Given the description of an element on the screen output the (x, y) to click on. 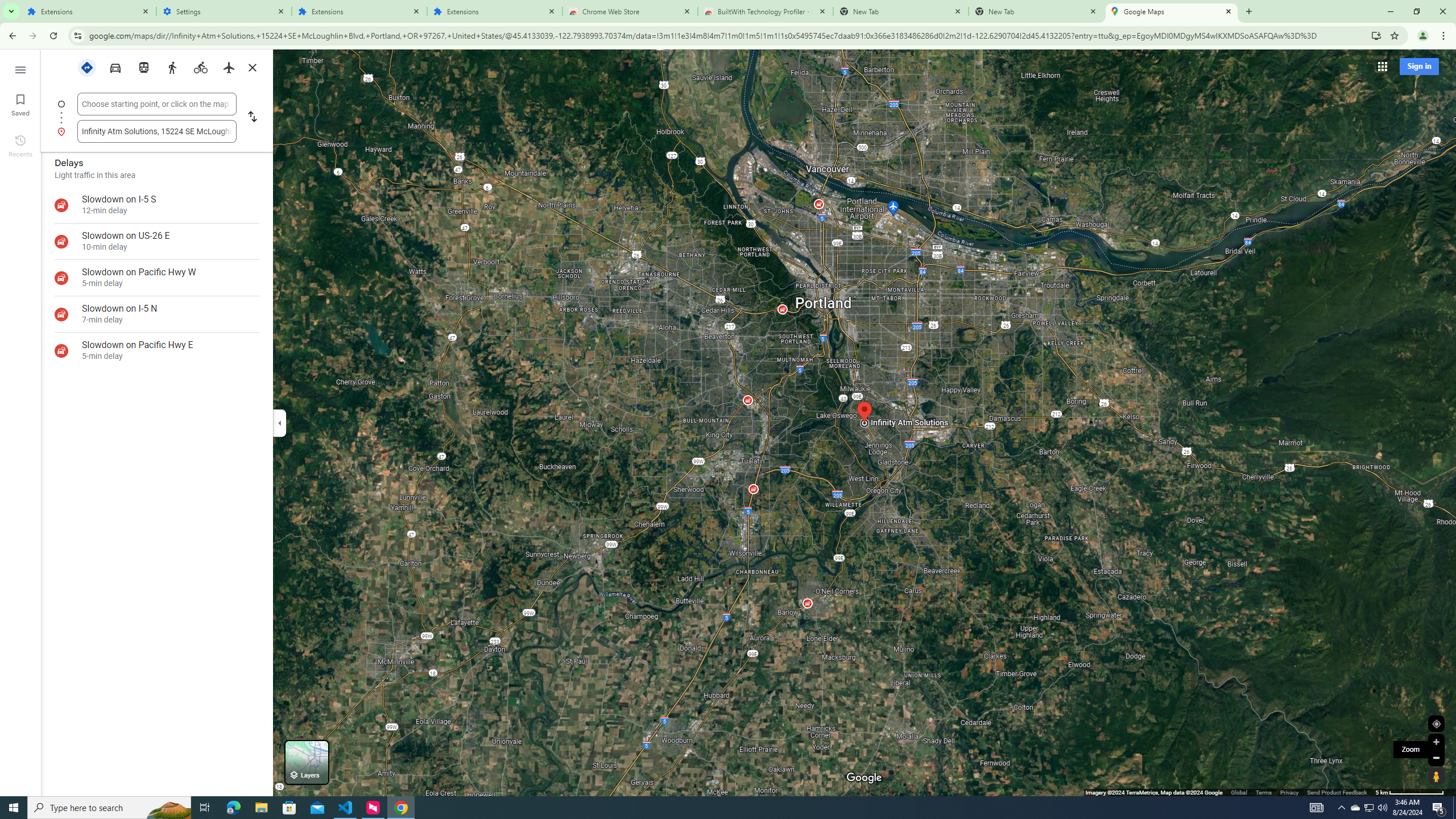
Transit (143, 66)
Flights (228, 67)
500 m (1409, 792)
Global (1238, 792)
Install Google Maps (1376, 35)
Choose starting point, or click on the map... (156, 103)
Show Street View coverage (1436, 776)
Recents (20, 145)
AutomationID: sb_ifc50 (156, 103)
